Given the description of an element on the screen output the (x, y) to click on. 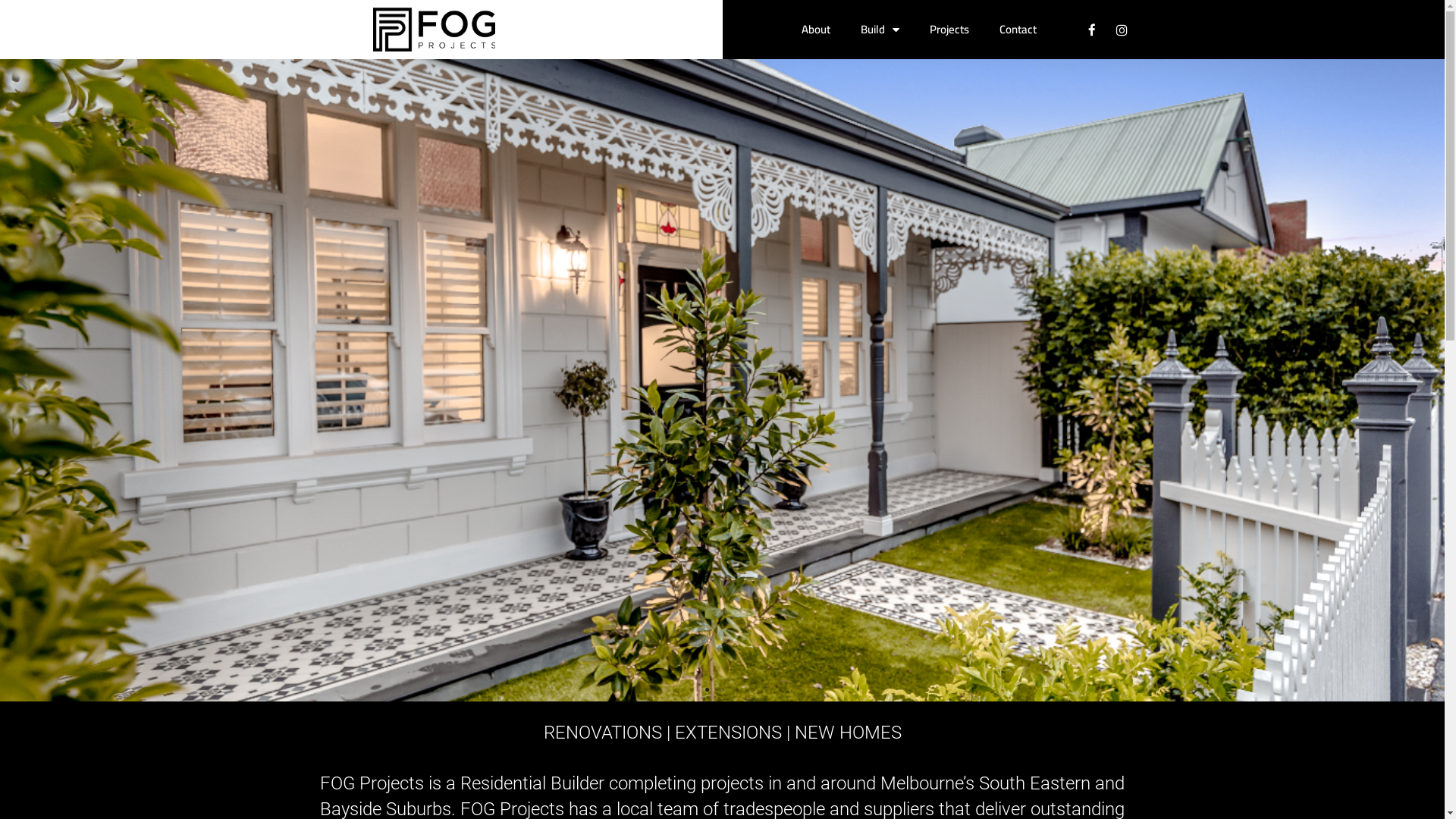
4 Element type: text (736, 689)
5 Element type: text (751, 689)
Build Element type: text (879, 29)
1 Element type: text (691, 689)
About Element type: text (815, 29)
Next Element type: text (1421, 380)
Projects Element type: text (949, 29)
3 Element type: text (721, 689)
Previous Element type: text (22, 380)
Contact Element type: text (1017, 29)
2 Element type: text (706, 689)
